Given the description of an element on the screen output the (x, y) to click on. 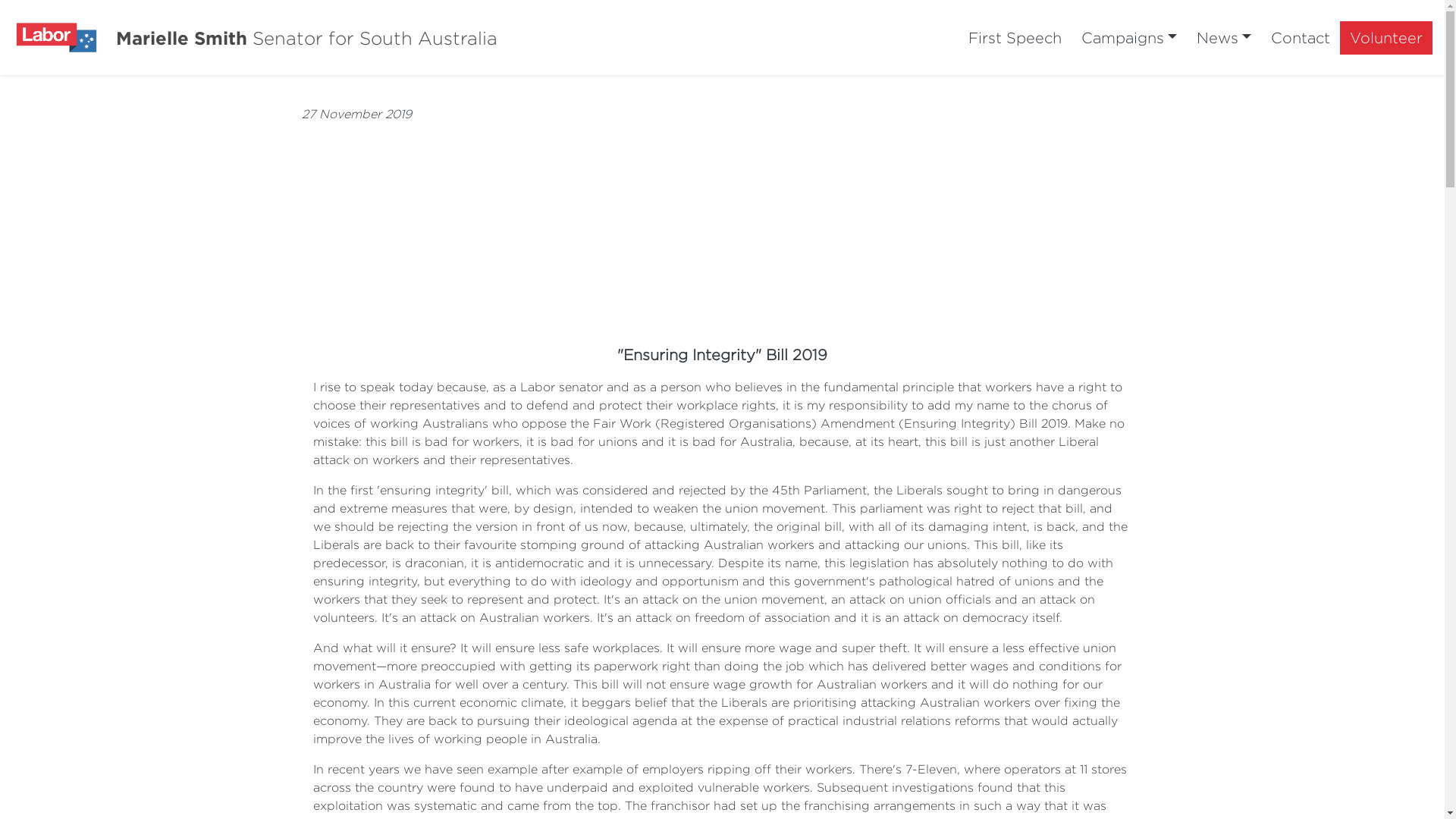
Marielle Smith Senator for South Australia Element type: text (306, 37)
First Speech Element type: text (1014, 37)
Contact Element type: text (1300, 37)
News Element type: text (1223, 37)
Campaigns Element type: text (1128, 37)
Volunteer Element type: text (1385, 37)
